Given the description of an element on the screen output the (x, y) to click on. 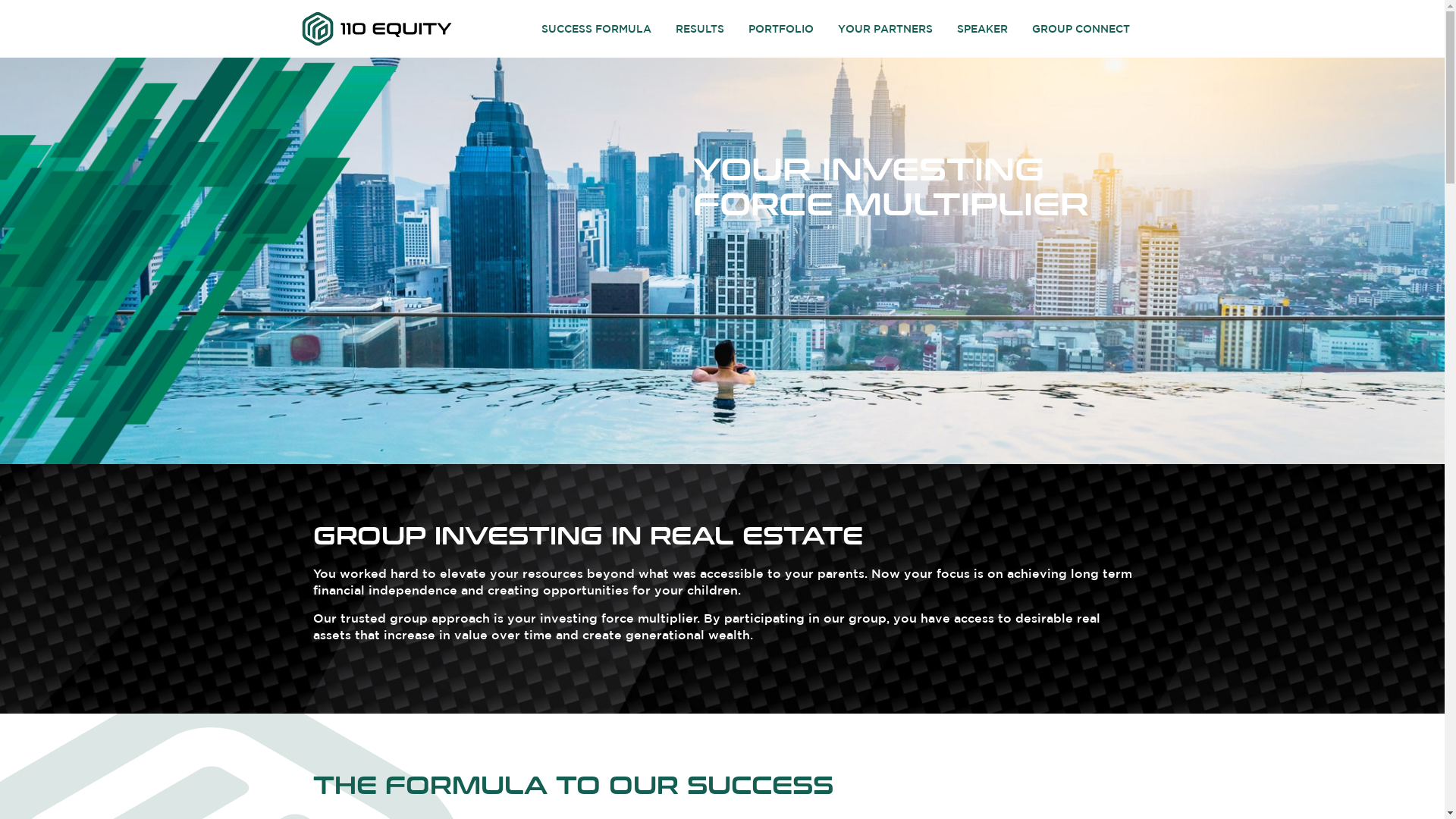
SPEAKER Element type: text (982, 28)
SUCCESS FORMULA Element type: text (596, 28)
RESULTS Element type: text (699, 28)
YOUR PARTNERS Element type: text (885, 28)
PORTFOLIO Element type: text (780, 28)
GROUP CONNECT Element type: text (1080, 28)
